Given the description of an element on the screen output the (x, y) to click on. 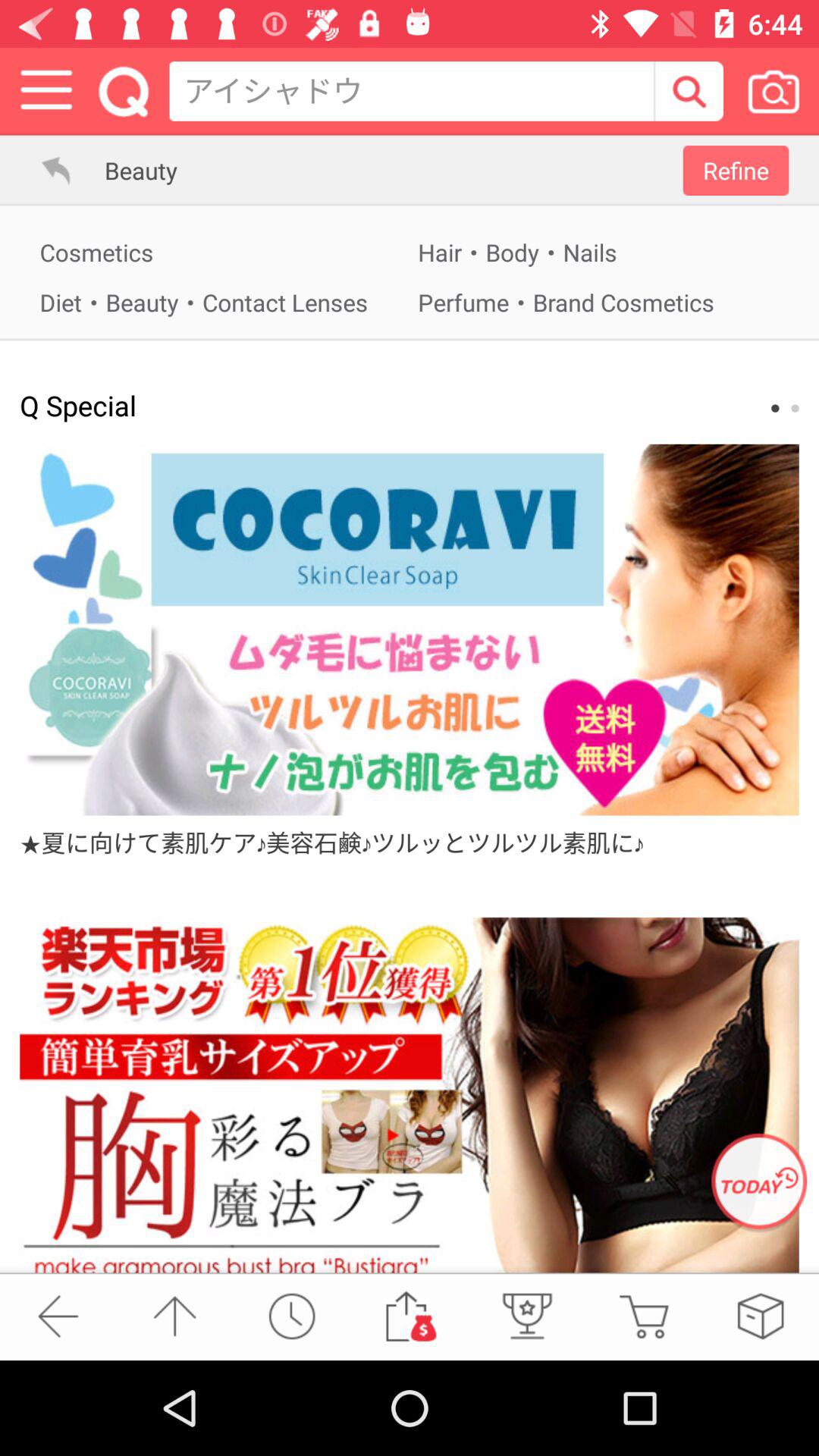
cart option (642, 1316)
